Given the description of an element on the screen output the (x, y) to click on. 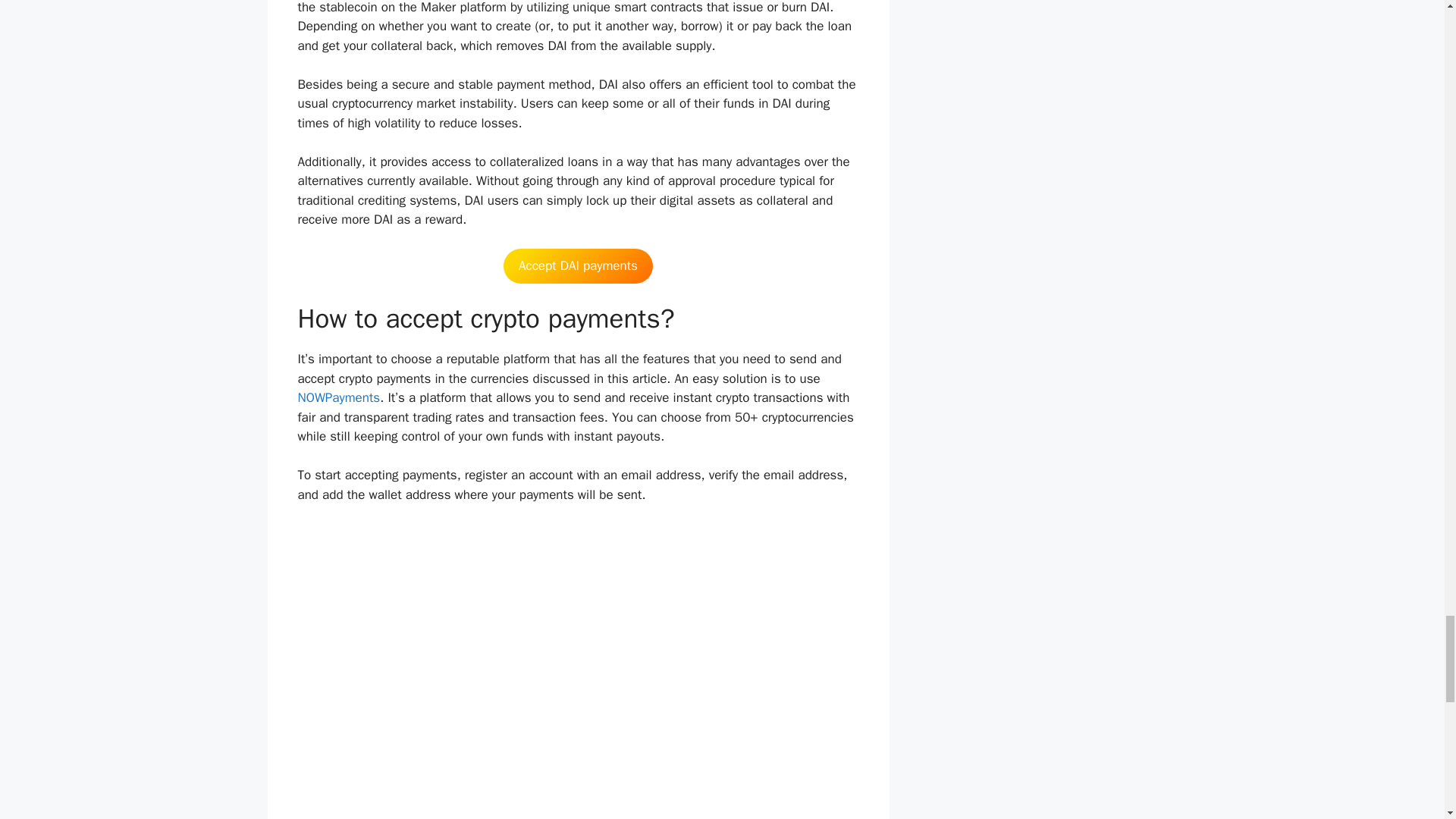
Accept DAI payments (577, 265)
NOWPayments (338, 397)
